Given the description of an element on the screen output the (x, y) to click on. 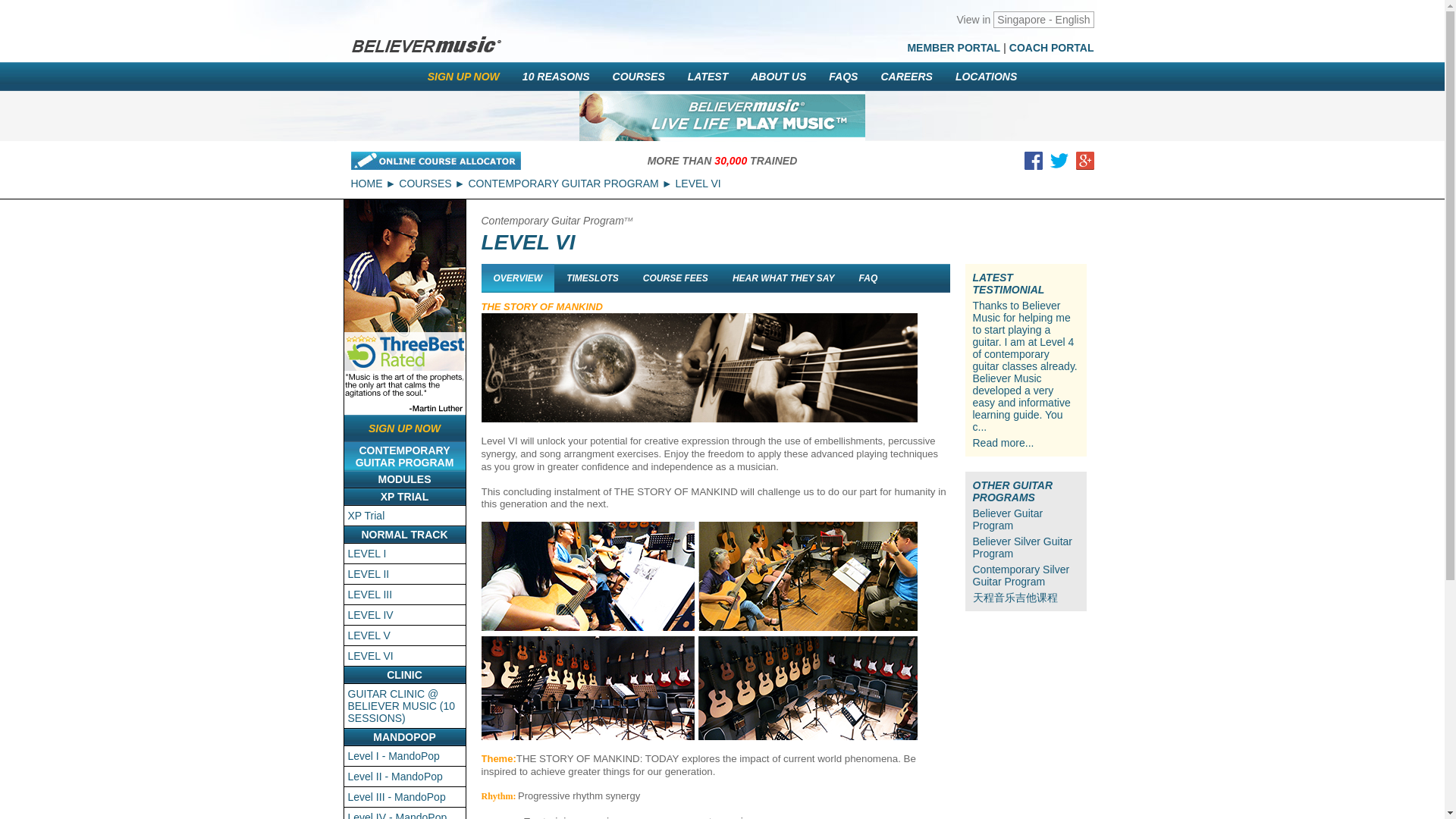
COURSES (639, 76)
Tweet on Twitter (1058, 163)
10 REASONS (556, 76)
Share on Facebook (1032, 163)
MEMBER PORTAL (953, 47)
COACH PORTAL (1051, 47)
SIGN UP NOW (463, 76)
